Given the description of an element on the screen output the (x, y) to click on. 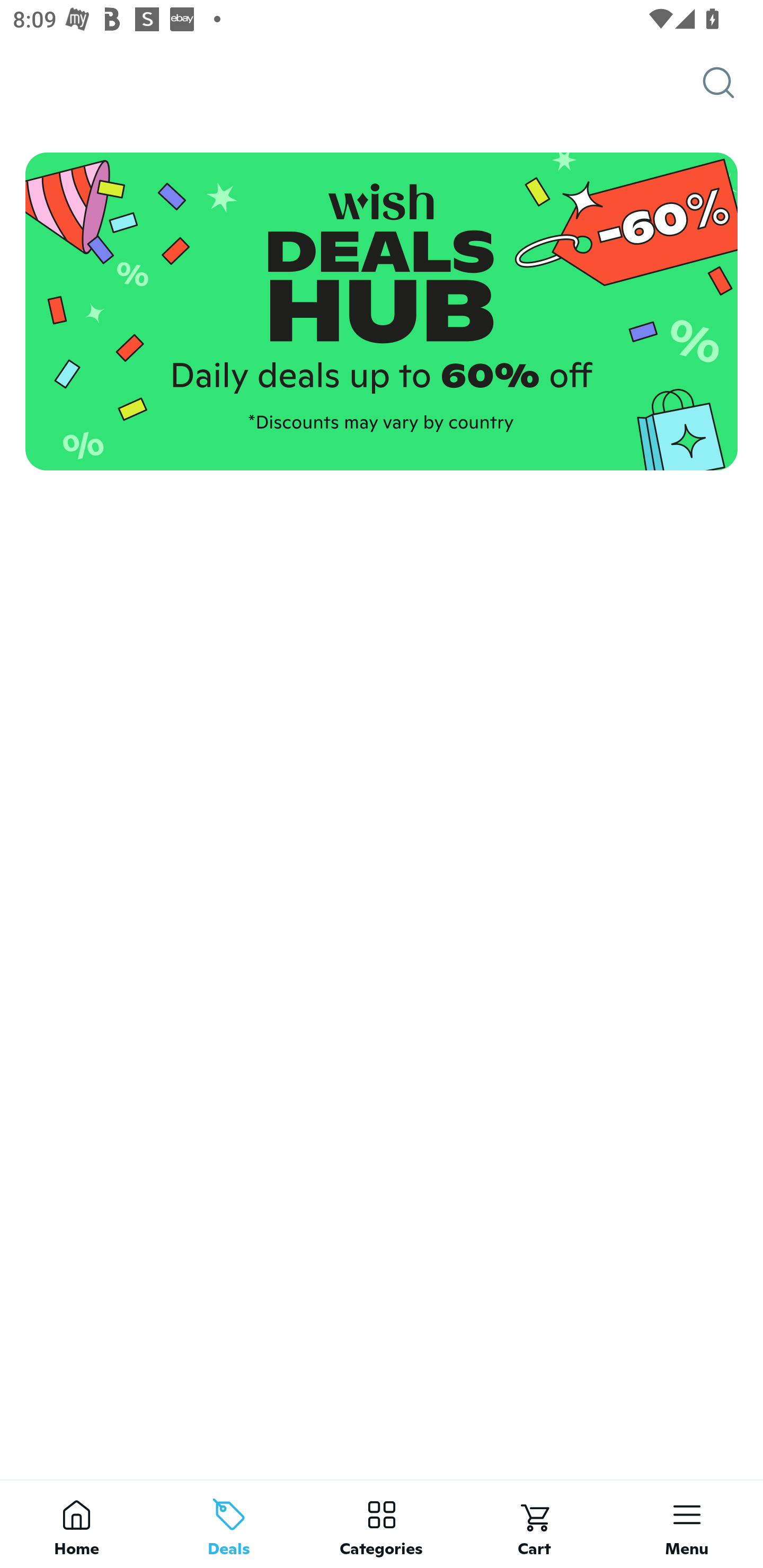
Search (732, 82)
Home (76, 1523)
Deals (228, 1523)
Categories (381, 1523)
Cart (533, 1523)
Menu (686, 1523)
